Given the description of an element on the screen output the (x, y) to click on. 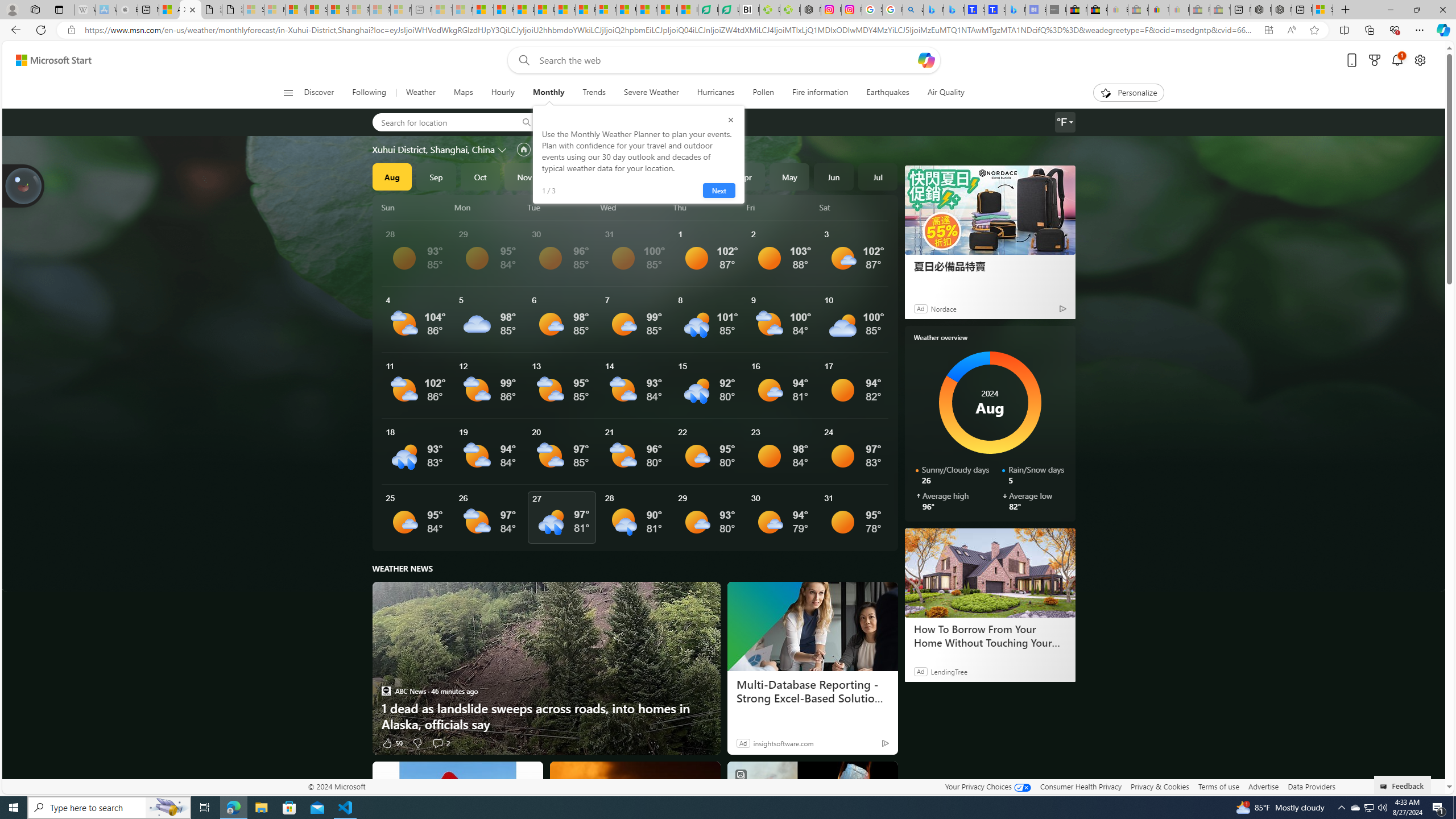
LendingTree - Compare Lenders (728, 9)
Search for location (440, 122)
Weather settings (1064, 122)
Mar (700, 176)
Food and Drink - MSN (503, 9)
Buy iPad - Apple - Sleeping (127, 9)
